Given the description of an element on the screen output the (x, y) to click on. 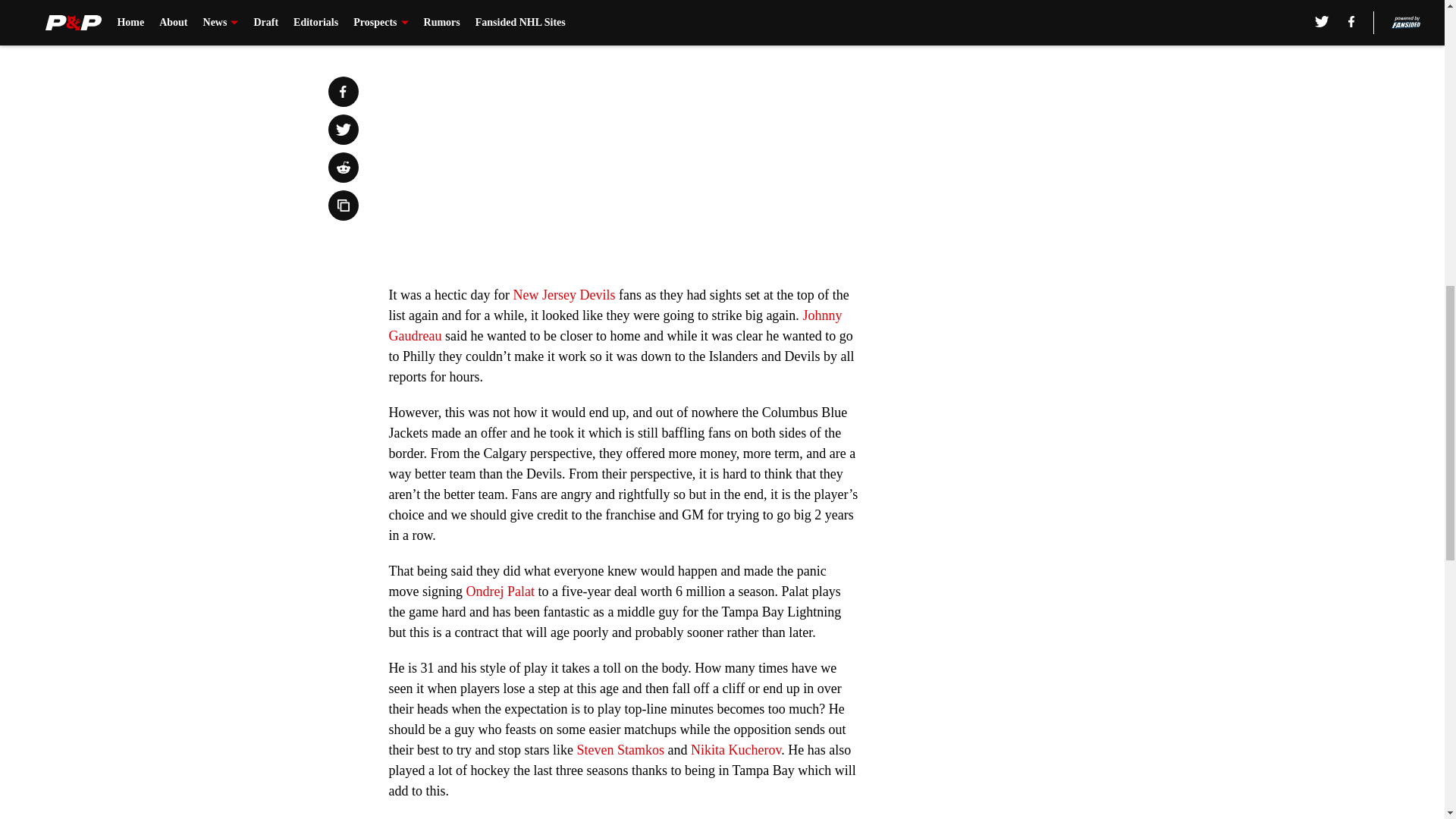
Nikita Kucherov (735, 749)
Johnny Gaudreau (614, 325)
Ondrej Palat (499, 590)
Steven Stamkos (619, 749)
New Jersey Devils (563, 294)
